Given the description of an element on the screen output the (x, y) to click on. 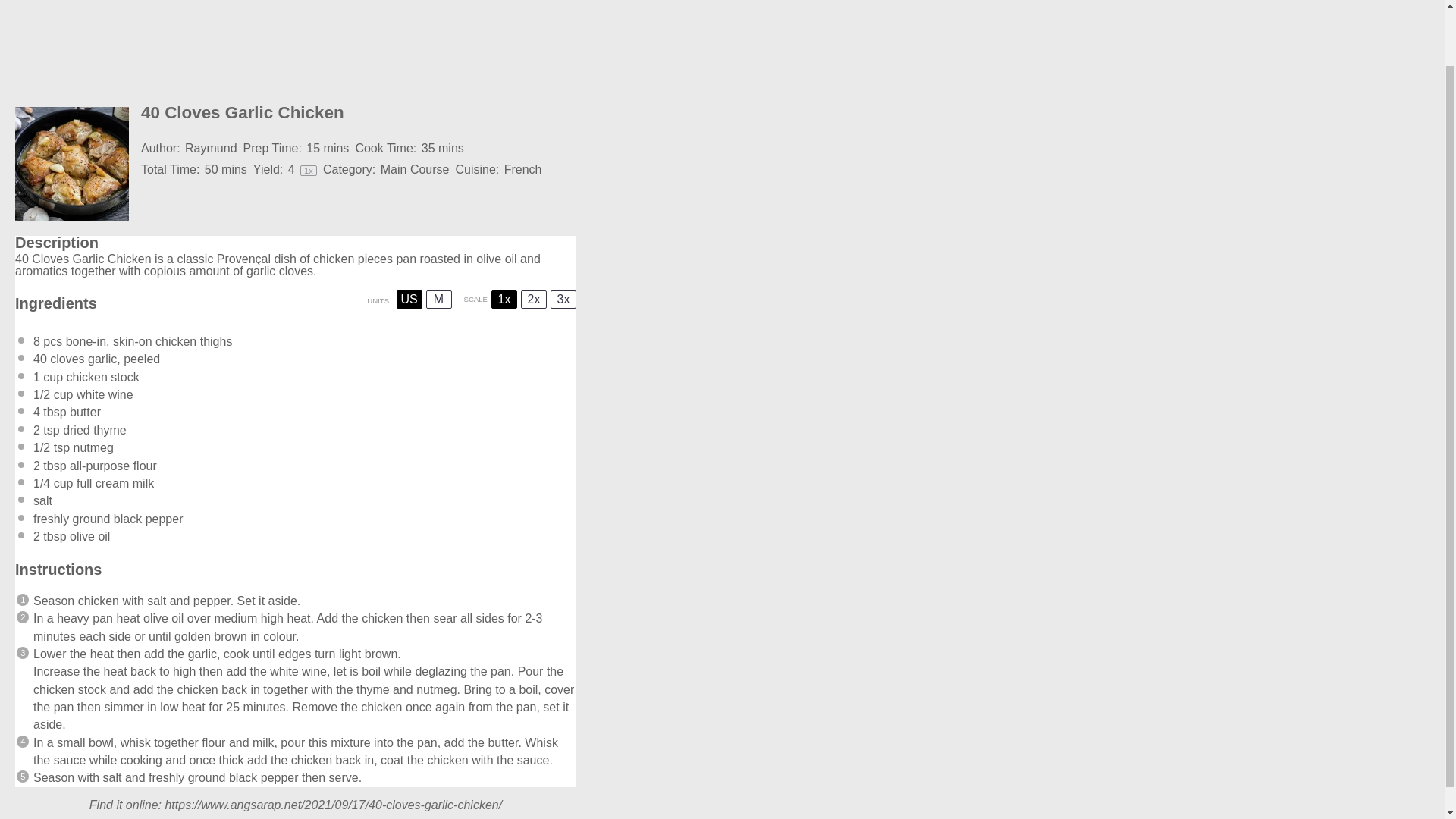
3x (563, 299)
M (438, 299)
1x (504, 299)
nutmeg (92, 447)
2x (534, 299)
US (409, 299)
dried thyme (94, 430)
